Given the description of an element on the screen output the (x, y) to click on. 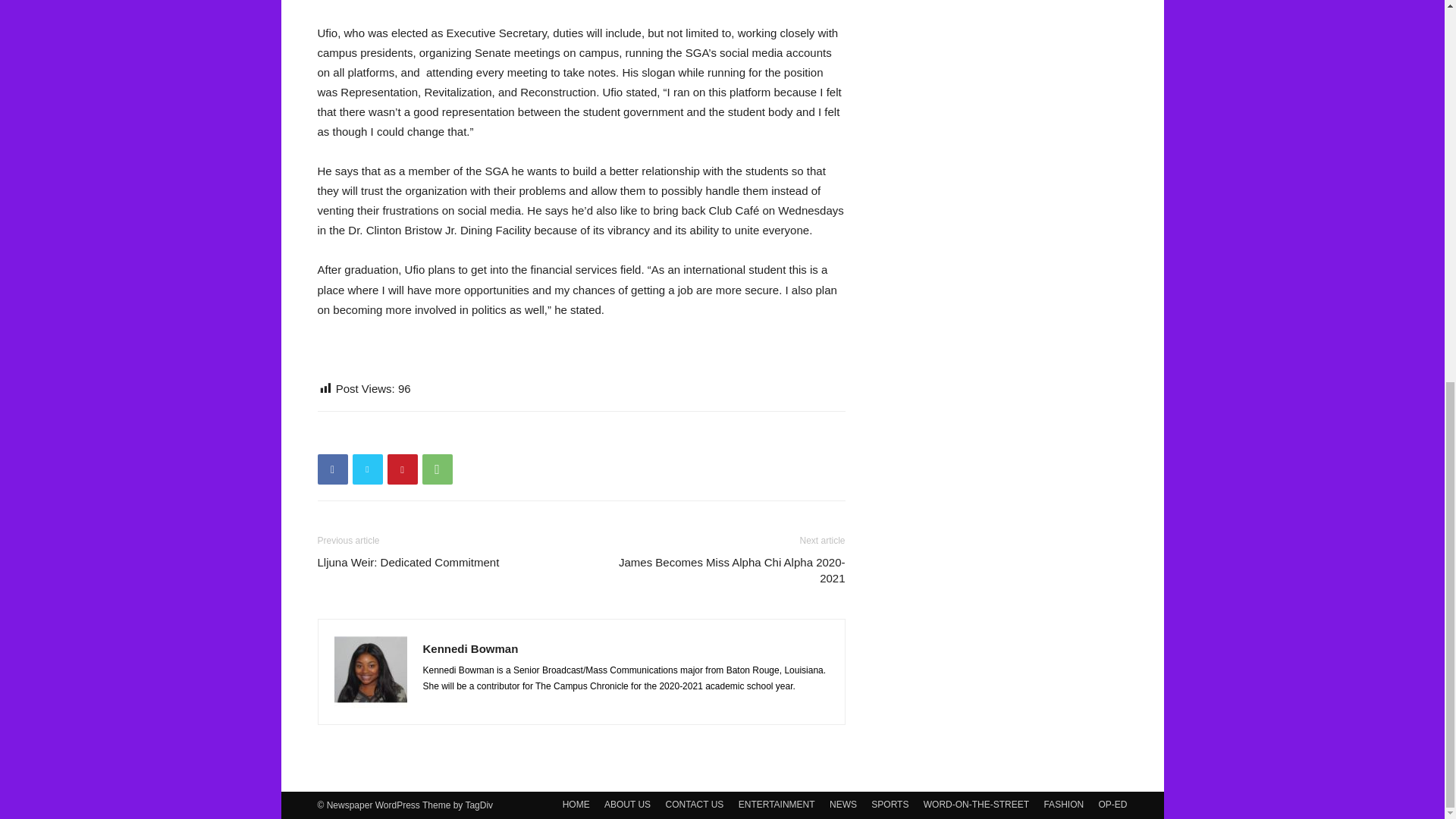
WhatsApp (436, 469)
Facebook (332, 469)
Pinterest (401, 469)
Twitter (366, 469)
